Given the description of an element on the screen output the (x, y) to click on. 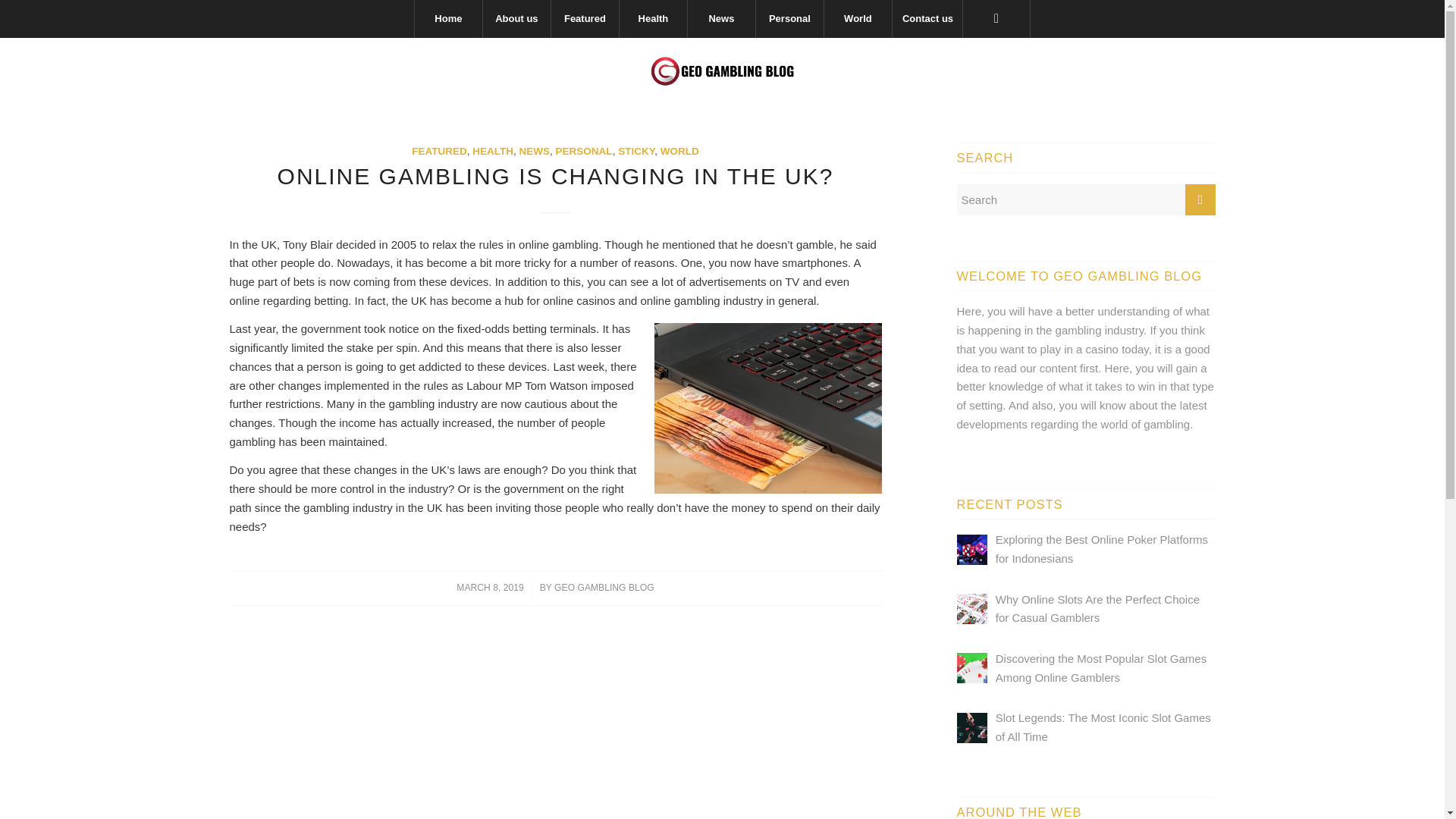
Personal (789, 18)
Contact us (926, 18)
News (721, 18)
WORLD (679, 151)
Posts by GEO Gambling Blog (603, 587)
Featured (584, 18)
World (857, 18)
Health (652, 18)
AROUND THE WEB (1085, 812)
